Given the description of an element on the screen output the (x, y) to click on. 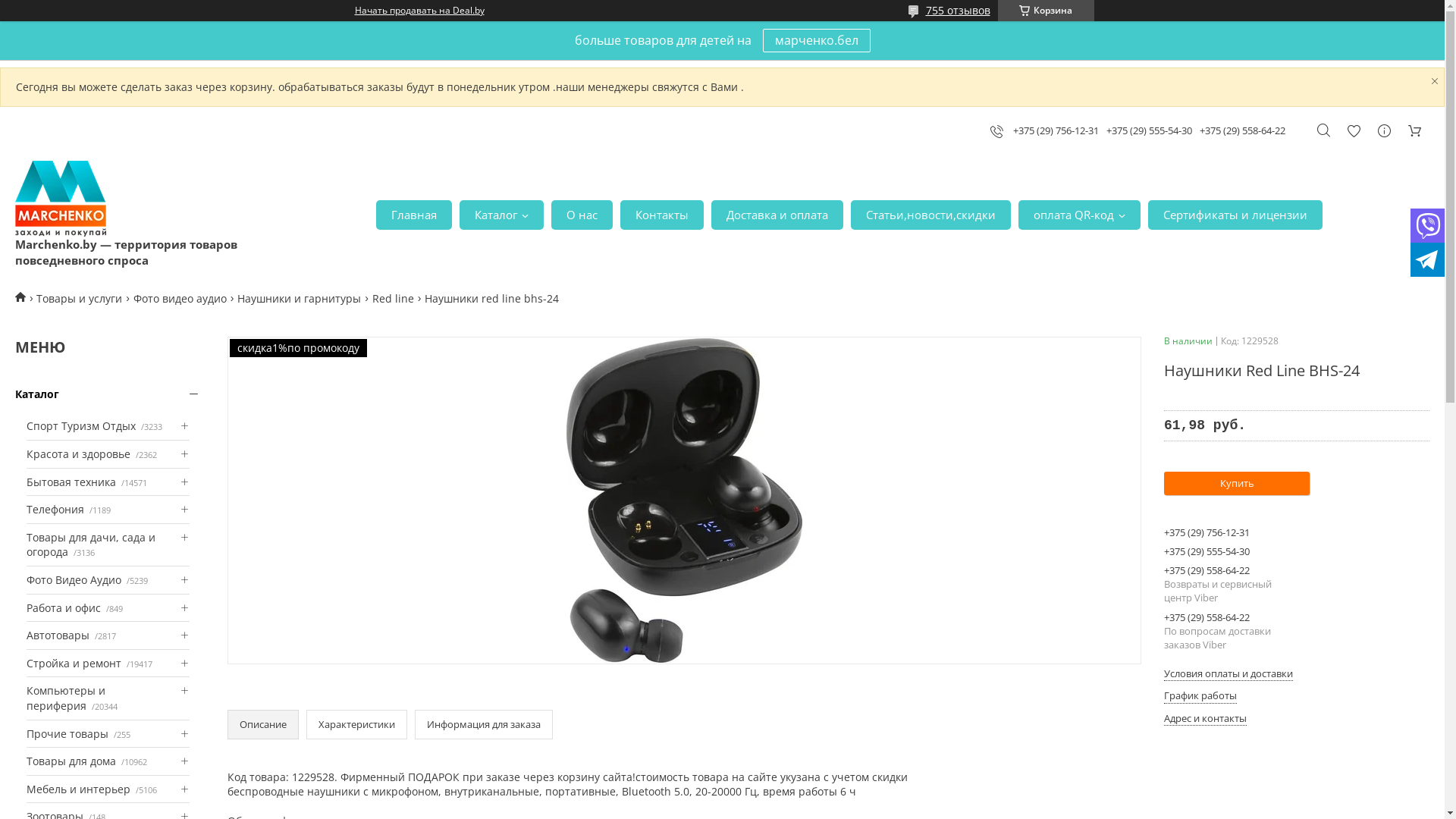
Red line Element type: text (393, 298)
